Given the description of an element on the screen output the (x, y) to click on. 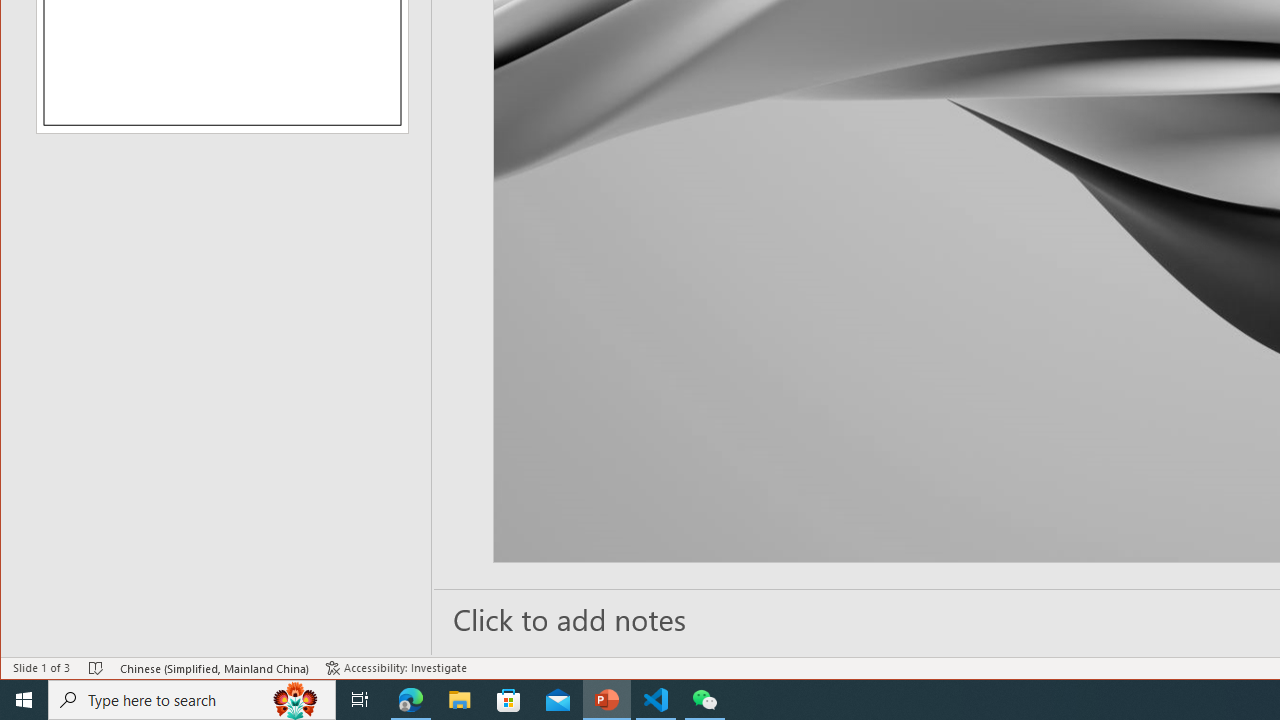
File Explorer (460, 699)
Task View (359, 699)
WeChat - 1 running window (704, 699)
Microsoft Edge - 1 running window (411, 699)
Accessibility Checker Accessibility: Investigate (395, 668)
PowerPoint - 1 running window (607, 699)
Type here to search (191, 699)
Visual Studio Code - 1 running window (656, 699)
Start (24, 699)
Search highlights icon opens search home window (295, 699)
Microsoft Store (509, 699)
